Given the description of an element on the screen output the (x, y) to click on. 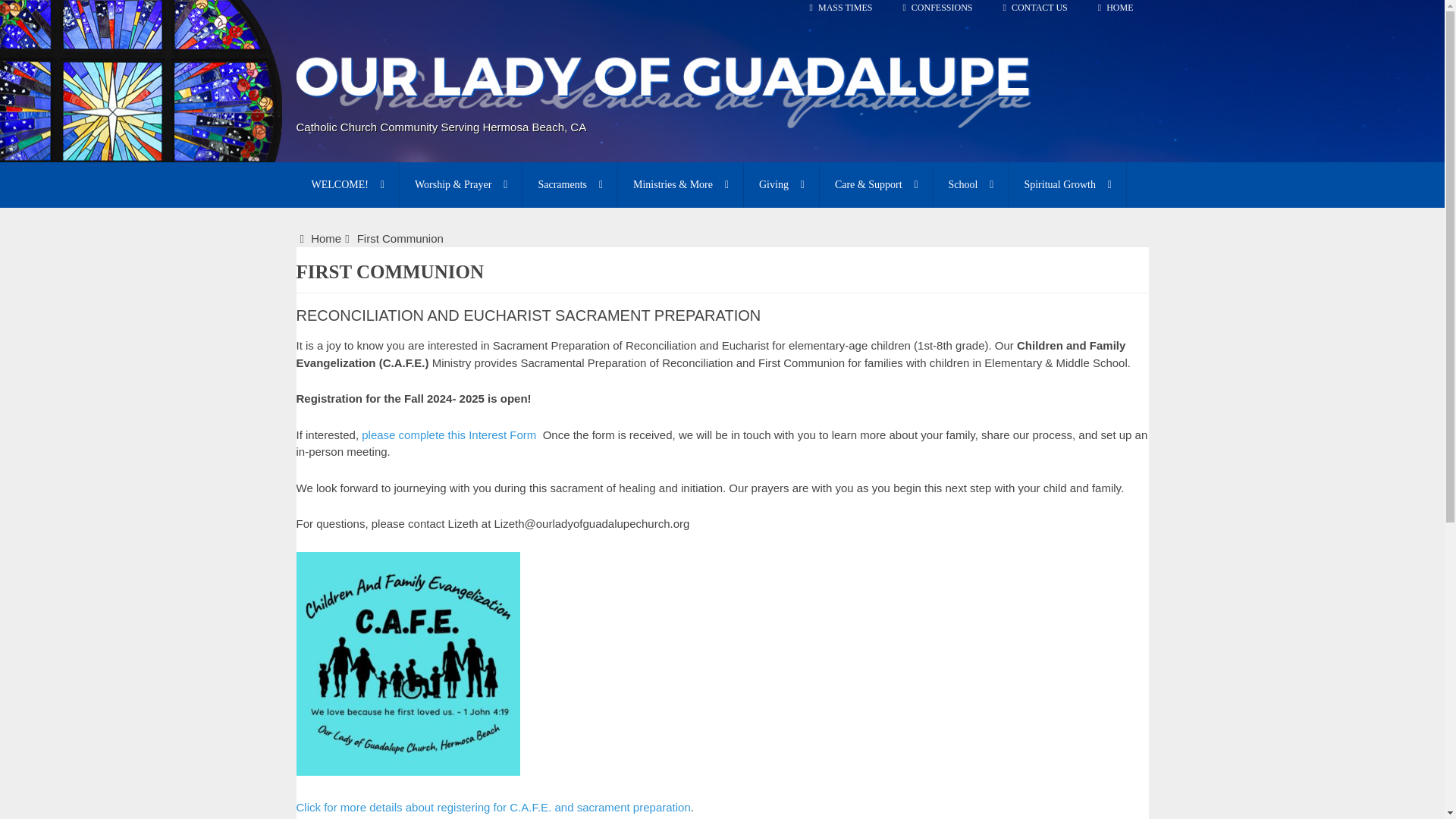
MASS TIMES (841, 13)
HOME (1115, 13)
WELCOME! (346, 185)
CONTACT US (1035, 13)
Sacraments (569, 185)
CONFESSIONS (936, 13)
